Given the description of an element on the screen output the (x, y) to click on. 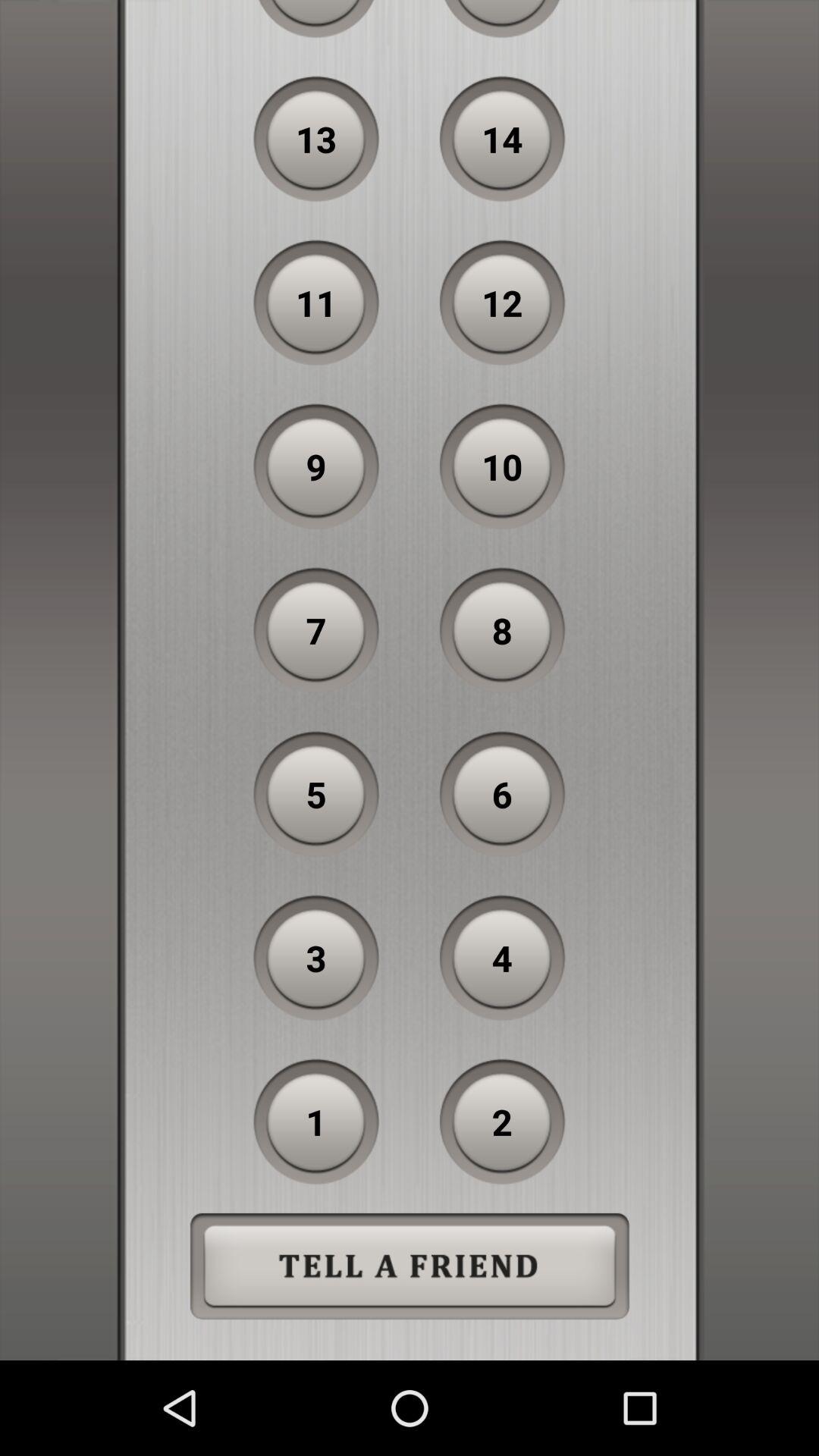
press the item to the right of 7 icon (502, 630)
